Given the description of an element on the screen output the (x, y) to click on. 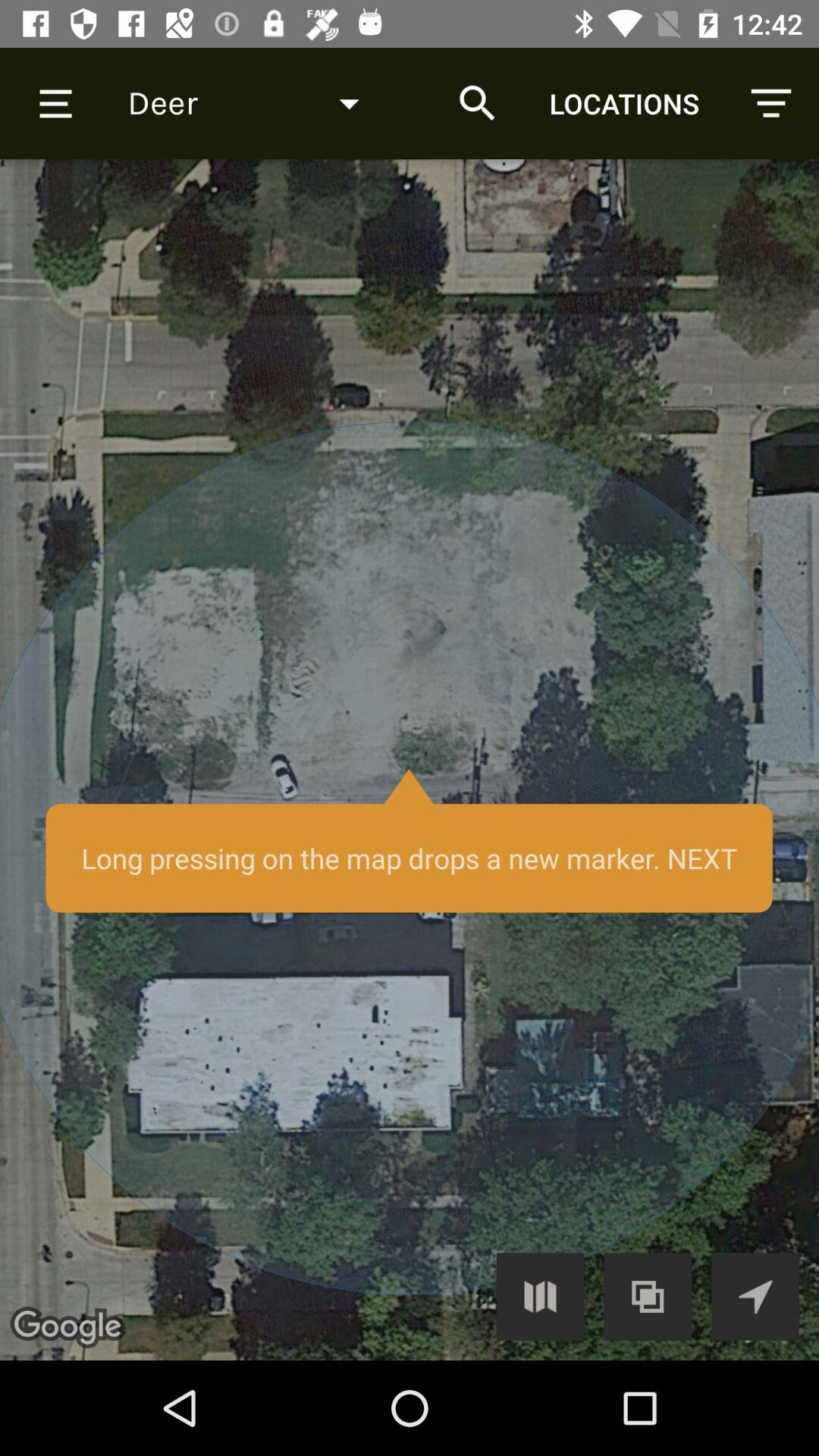
press for location (409, 759)
